Given the description of an element on the screen output the (x, y) to click on. 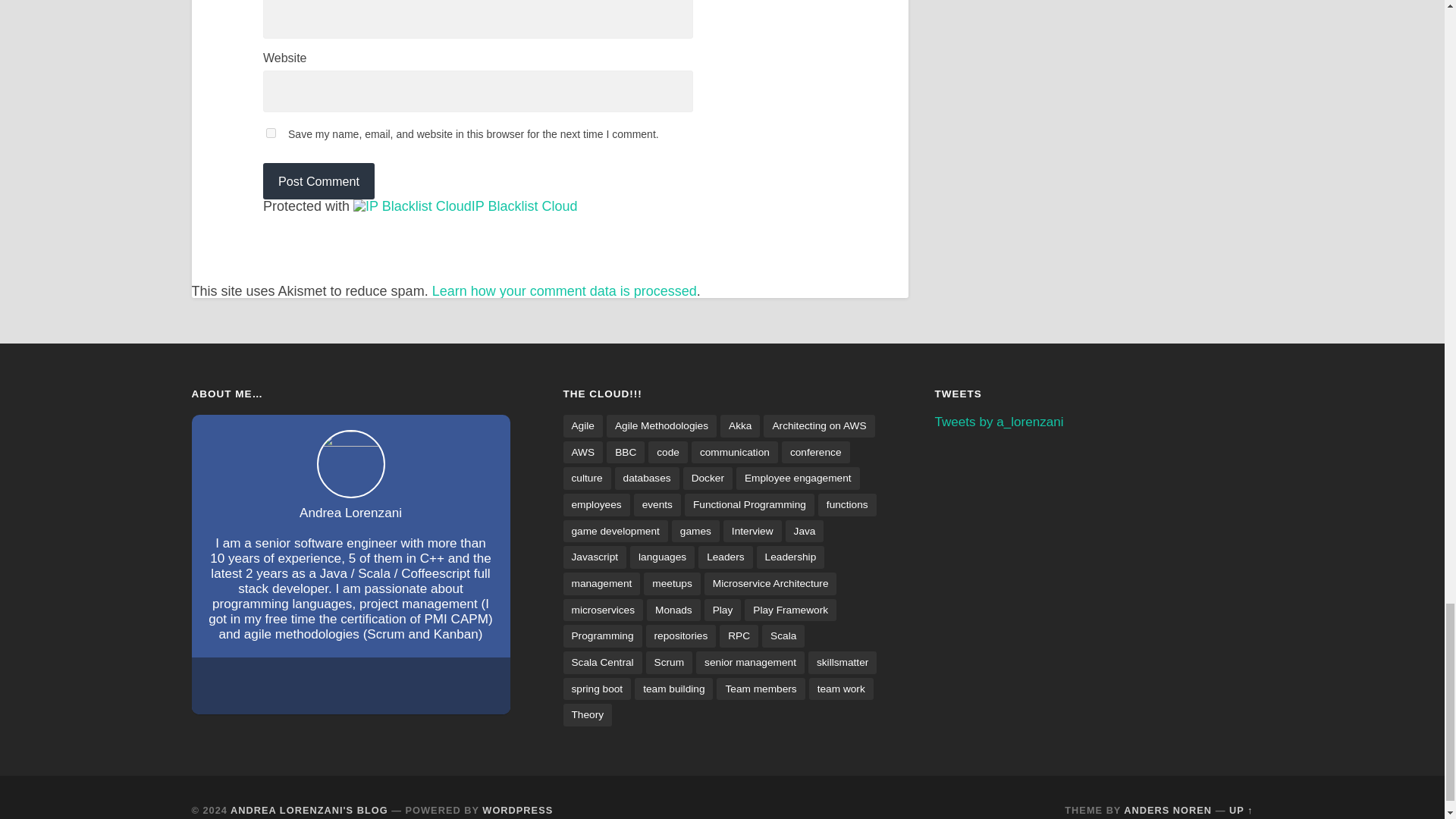
IP Blacklist Cloud (524, 206)
yes (271, 132)
Post Comment (318, 180)
